Given the description of an element on the screen output the (x, y) to click on. 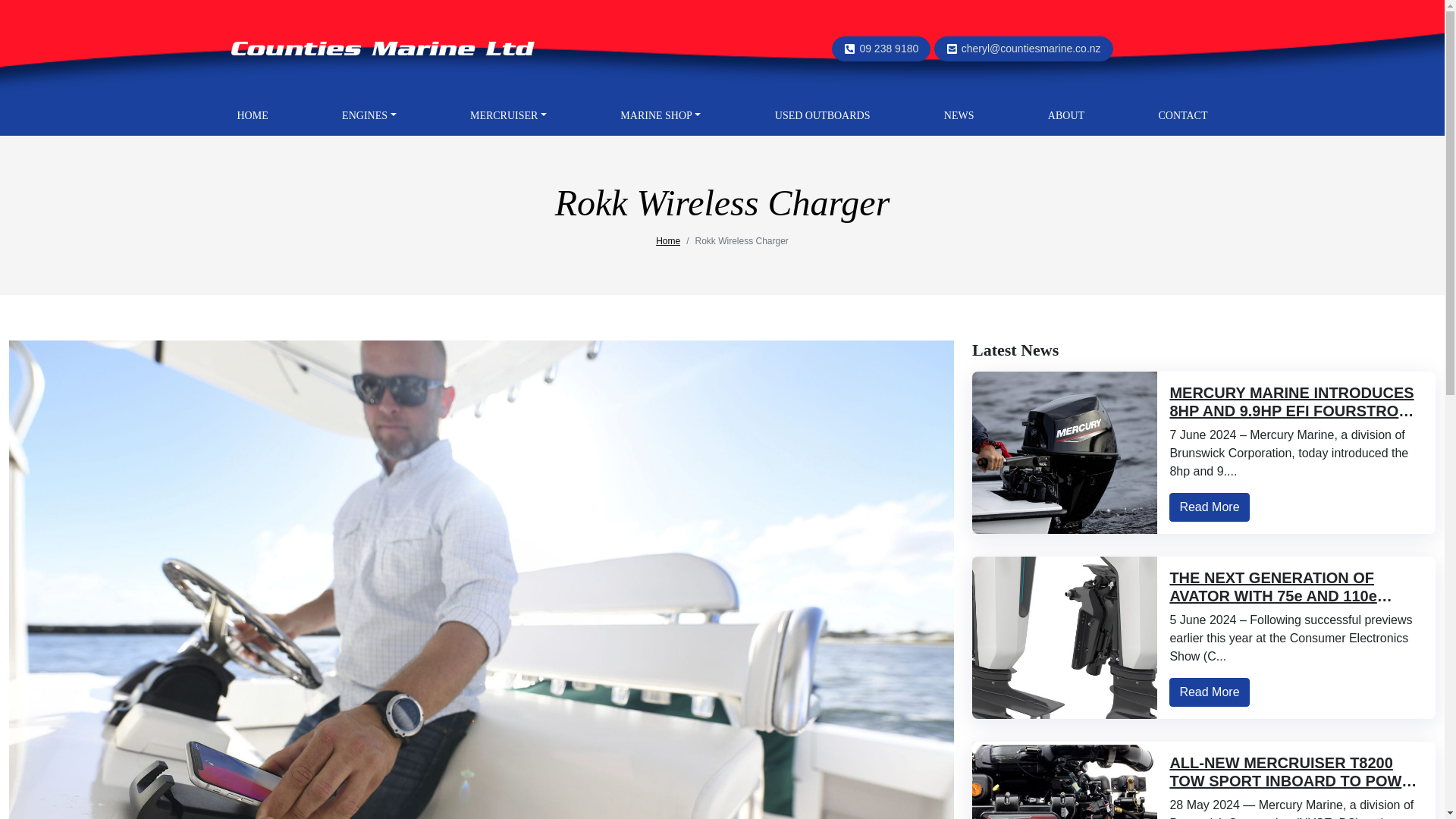
MARINE SHOP (660, 115)
THE NEXT GENERATION OF AVATOR WITH 75e AND 110e MODELS (1280, 595)
HOME (251, 115)
Read More (1209, 507)
... (382, 47)
09 238 9180 (888, 48)
Read More (1209, 692)
ENGINES (368, 115)
CONTACT (1181, 115)
MERCRUISER (508, 115)
USED OUTBOARDS (822, 115)
Home (667, 240)
ABOUT (1066, 115)
